Given the description of an element on the screen output the (x, y) to click on. 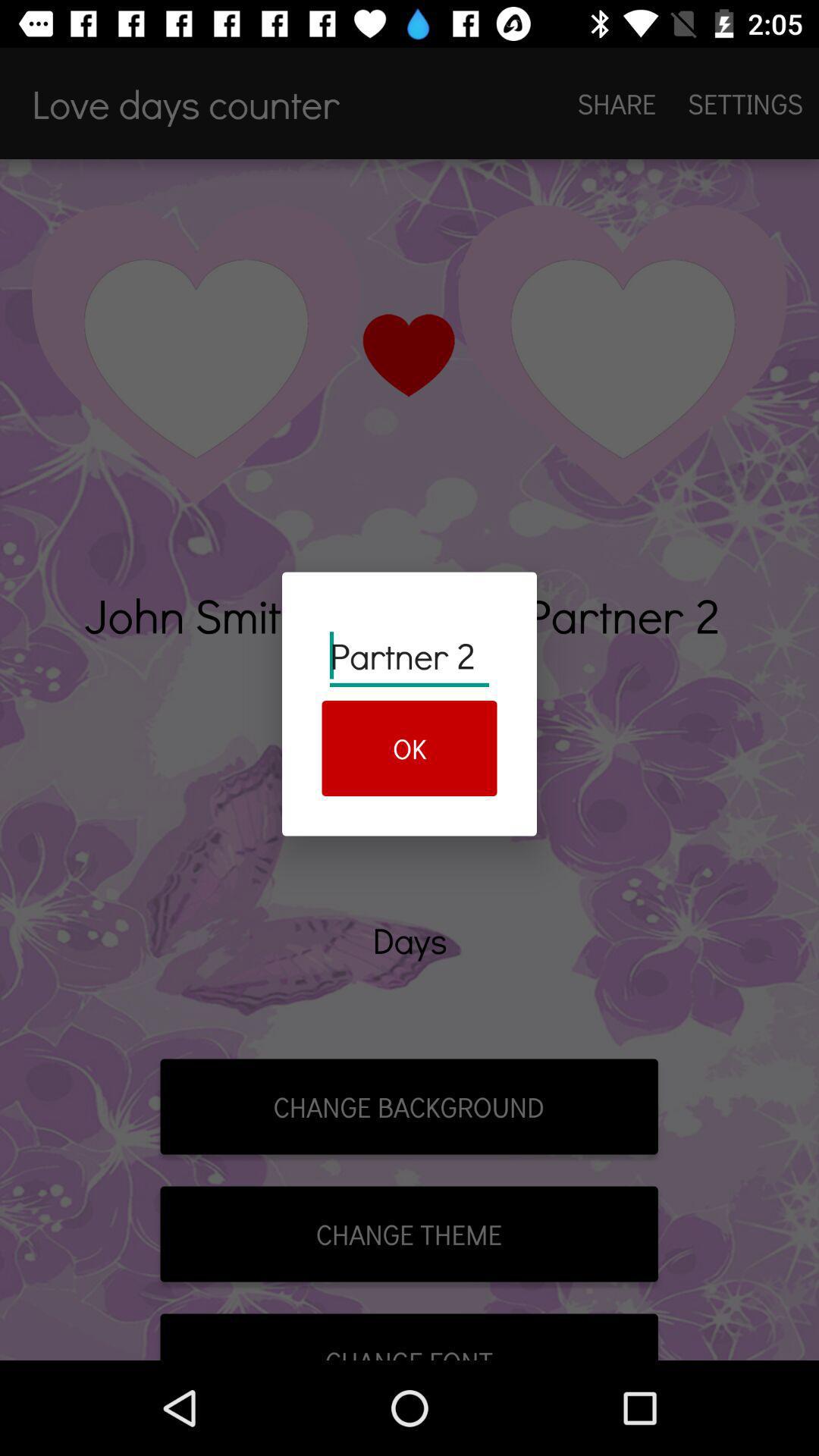
tap the partner 2 item (409, 655)
